Given the description of an element on the screen output the (x, y) to click on. 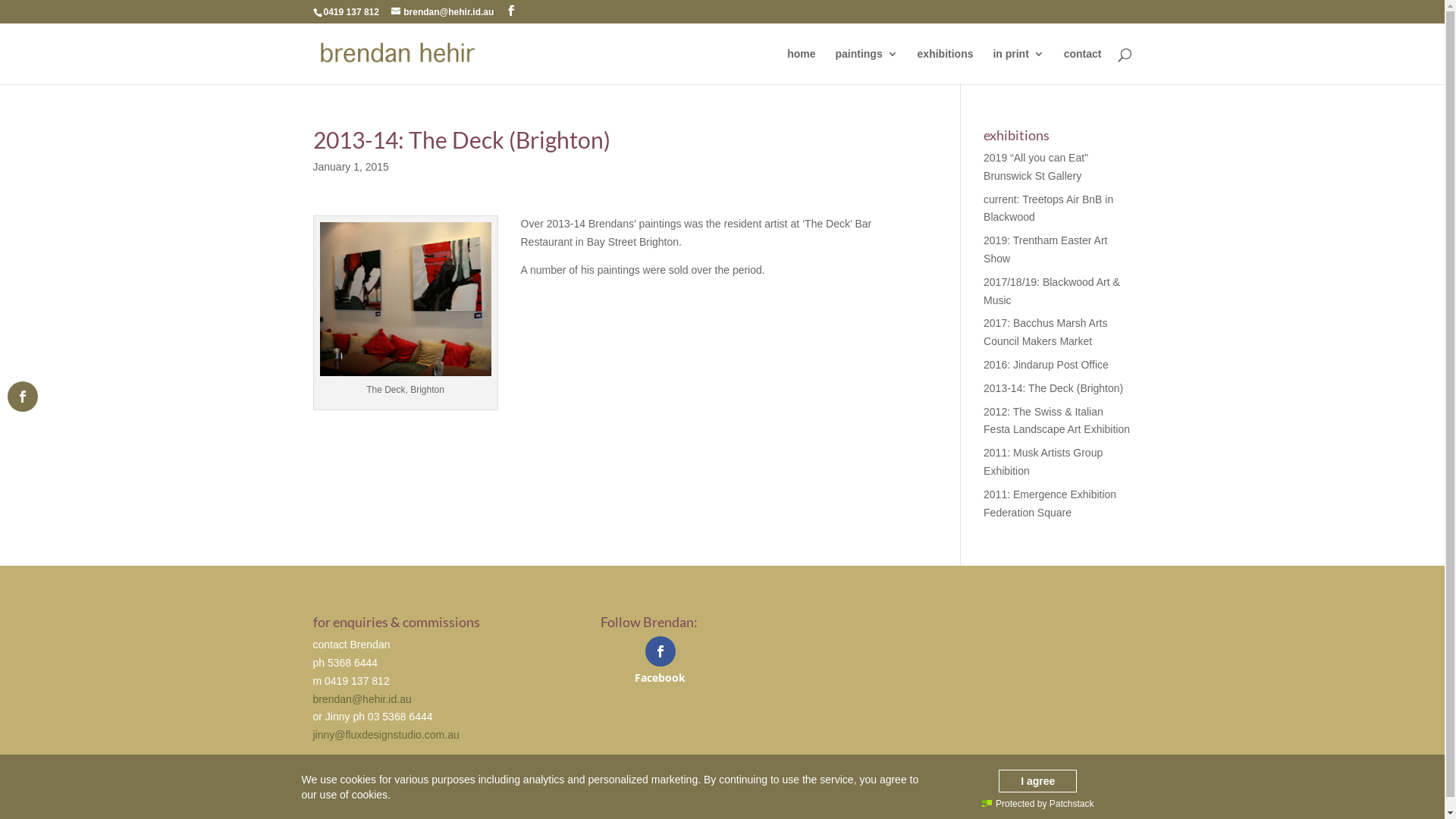
2011: Emergence Exhibition Federation Square Element type: text (1049, 503)
2016: Jindarup Post Office Element type: text (1045, 364)
Protected by Patchstack Element type: text (1037, 803)
FLUX Design Studio Element type: text (478, 809)
2019: Trentham Easter Art Show Element type: text (1045, 249)
2011: Musk Artists Group Exhibition Element type: text (1042, 461)
2012: The Swiss & Italian Festa Landscape Art Exhibition Element type: text (1056, 420)
current: Treetops Air BnB in Blackwood Element type: text (1048, 208)
contact Element type: text (1082, 66)
2017: Bacchus Marsh Arts Council Makers Market Element type: text (1045, 331)
Facebook Element type: text (659, 659)
brendan@hehir.id.au Element type: text (442, 11)
brendan@hehir.id.au Element type: text (361, 699)
2017/18/19: Blackwood Art & Music Element type: text (1051, 291)
2013-14: The Deck (Brighton) Element type: text (1053, 388)
in print Element type: text (1017, 66)
I agree Element type: text (1037, 780)
paintings Element type: text (865, 66)
home Element type: text (801, 66)
exhibitions Element type: text (945, 66)
jinny@fluxdesignstudio.com.au Element type: text (385, 734)
